Given the description of an element on the screen output the (x, y) to click on. 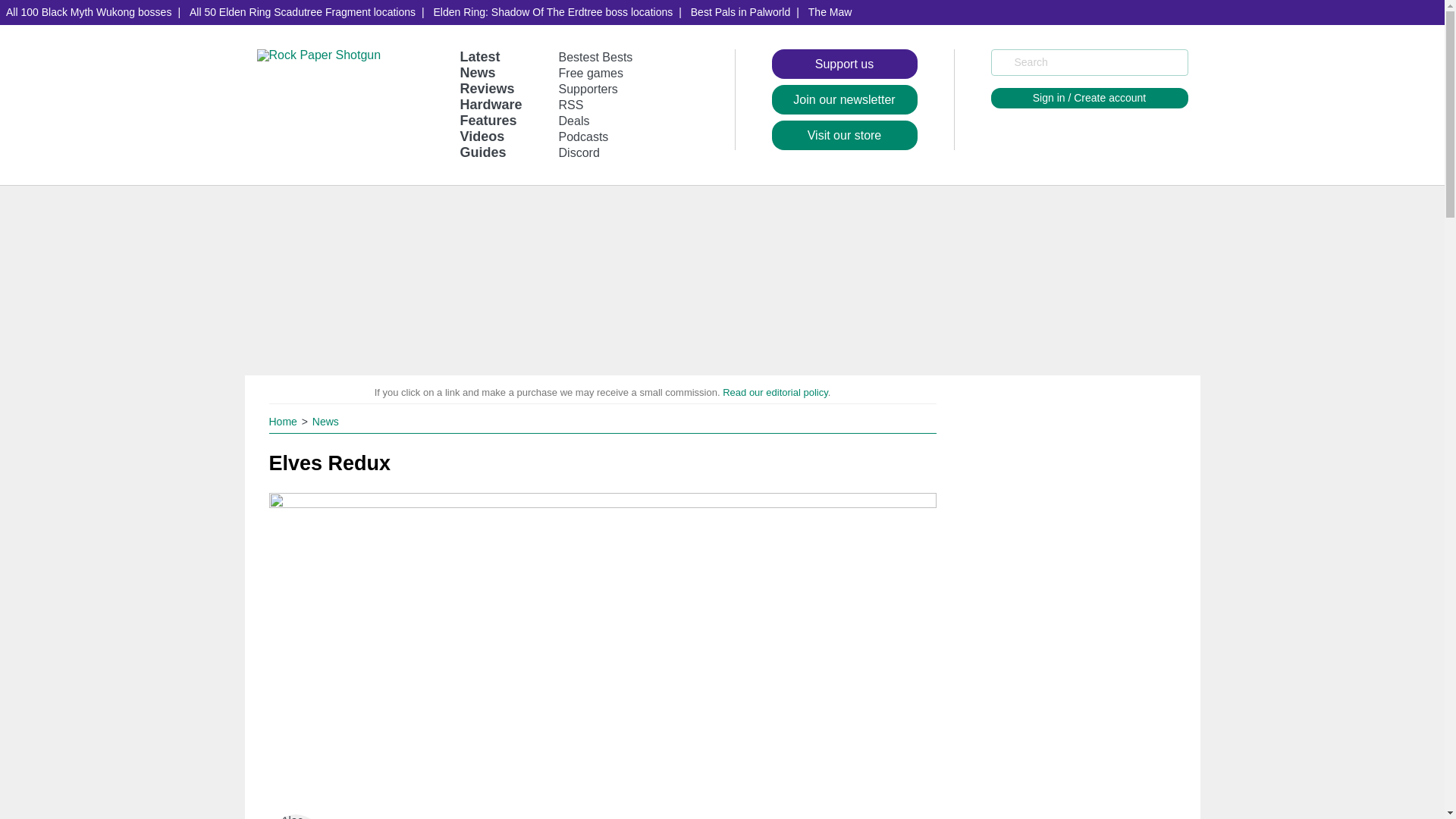
Supporters (588, 88)
Hardware (490, 104)
Deals (574, 120)
Guides (482, 151)
Free games (591, 72)
Best Pals in Palworld (740, 12)
RSS (571, 104)
Latest (479, 56)
Visit our store (844, 134)
Bestest Bests (596, 56)
